Given the description of an element on the screen output the (x, y) to click on. 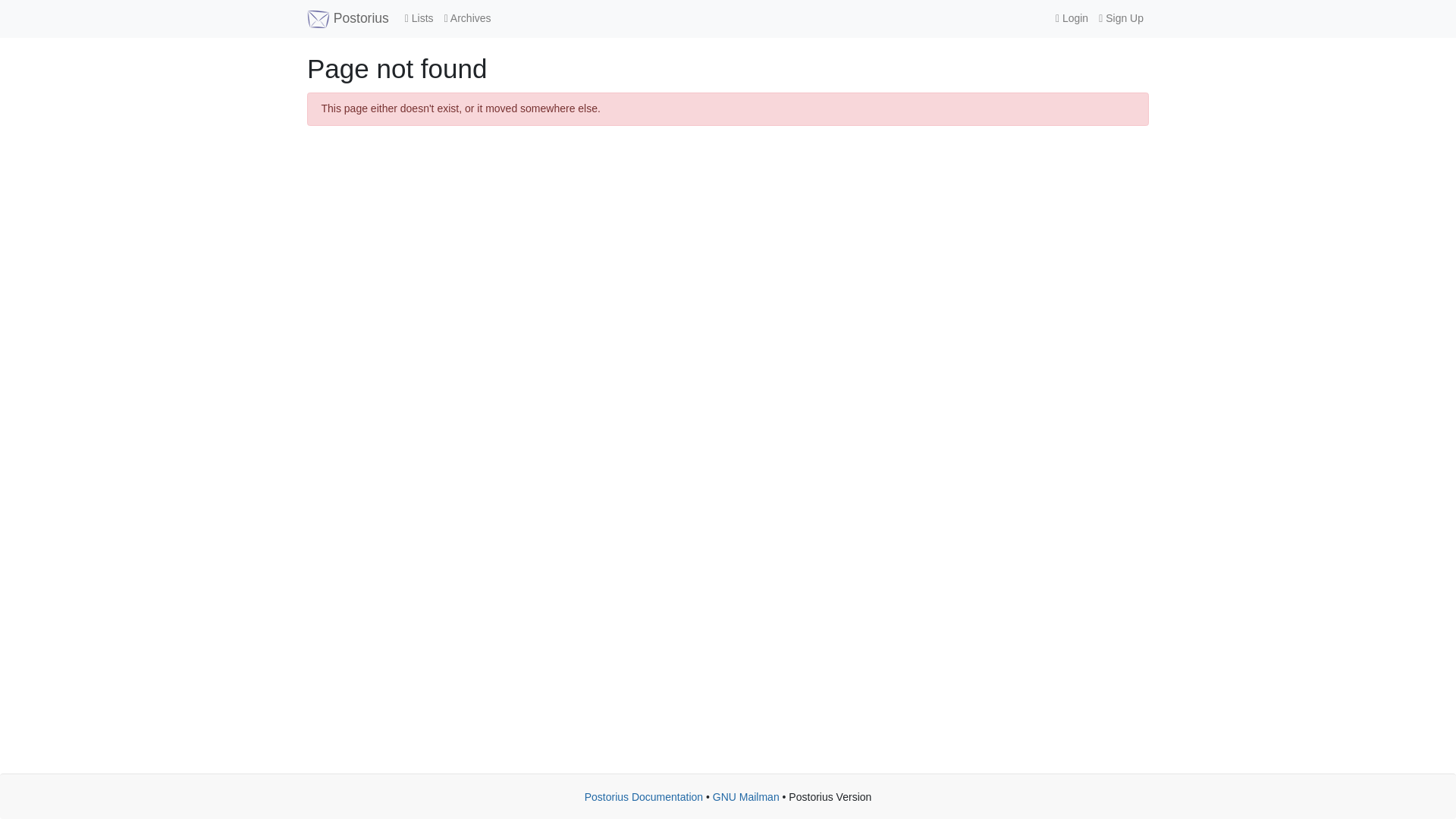
Postorius (347, 18)
Sign Up (1120, 17)
Login (1071, 17)
Archives (467, 17)
Lists (418, 17)
